Given the description of an element on the screen output the (x, y) to click on. 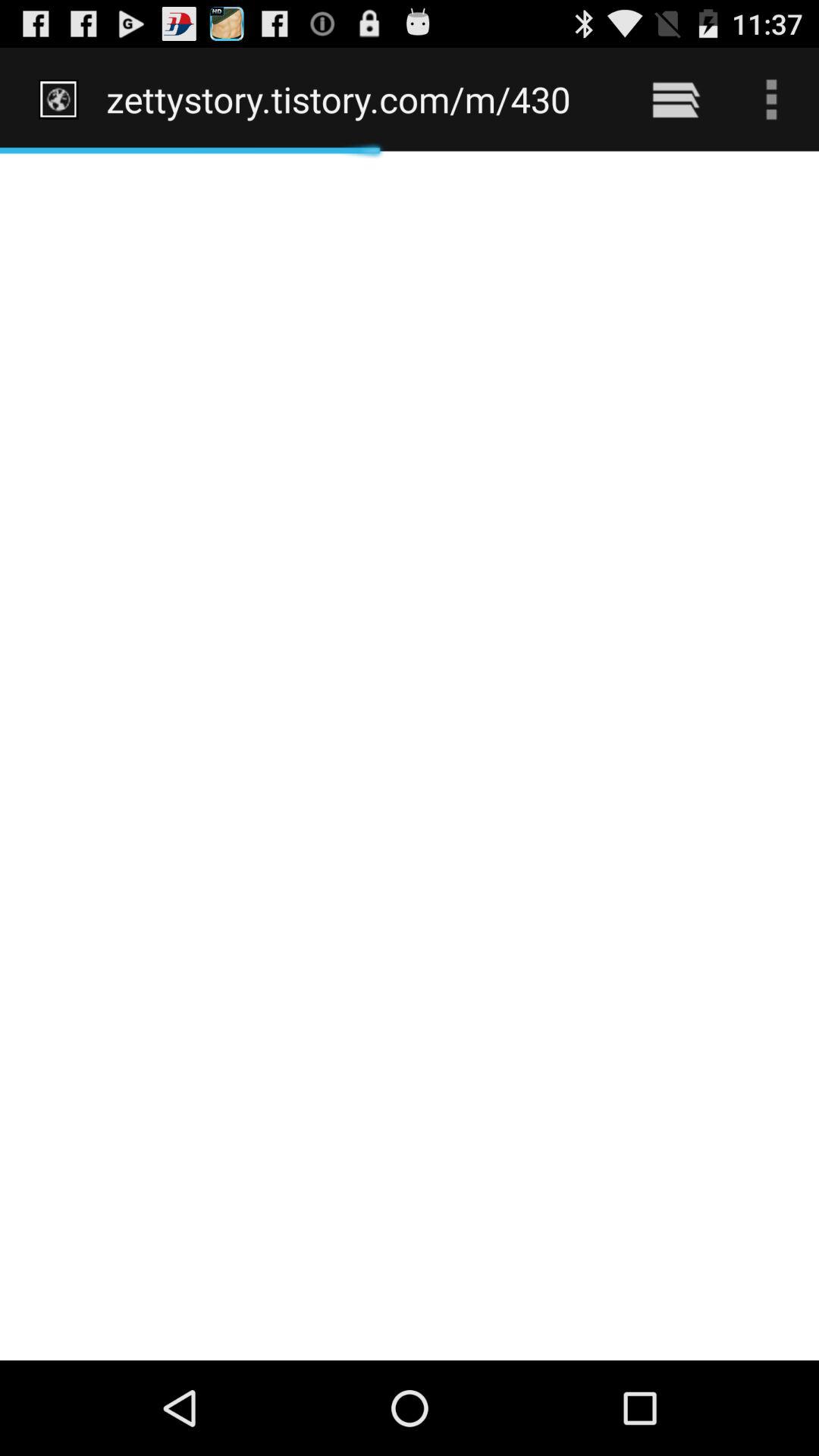
open icon below the zettystory tistory com icon (409, 755)
